Given the description of an element on the screen output the (x, y) to click on. 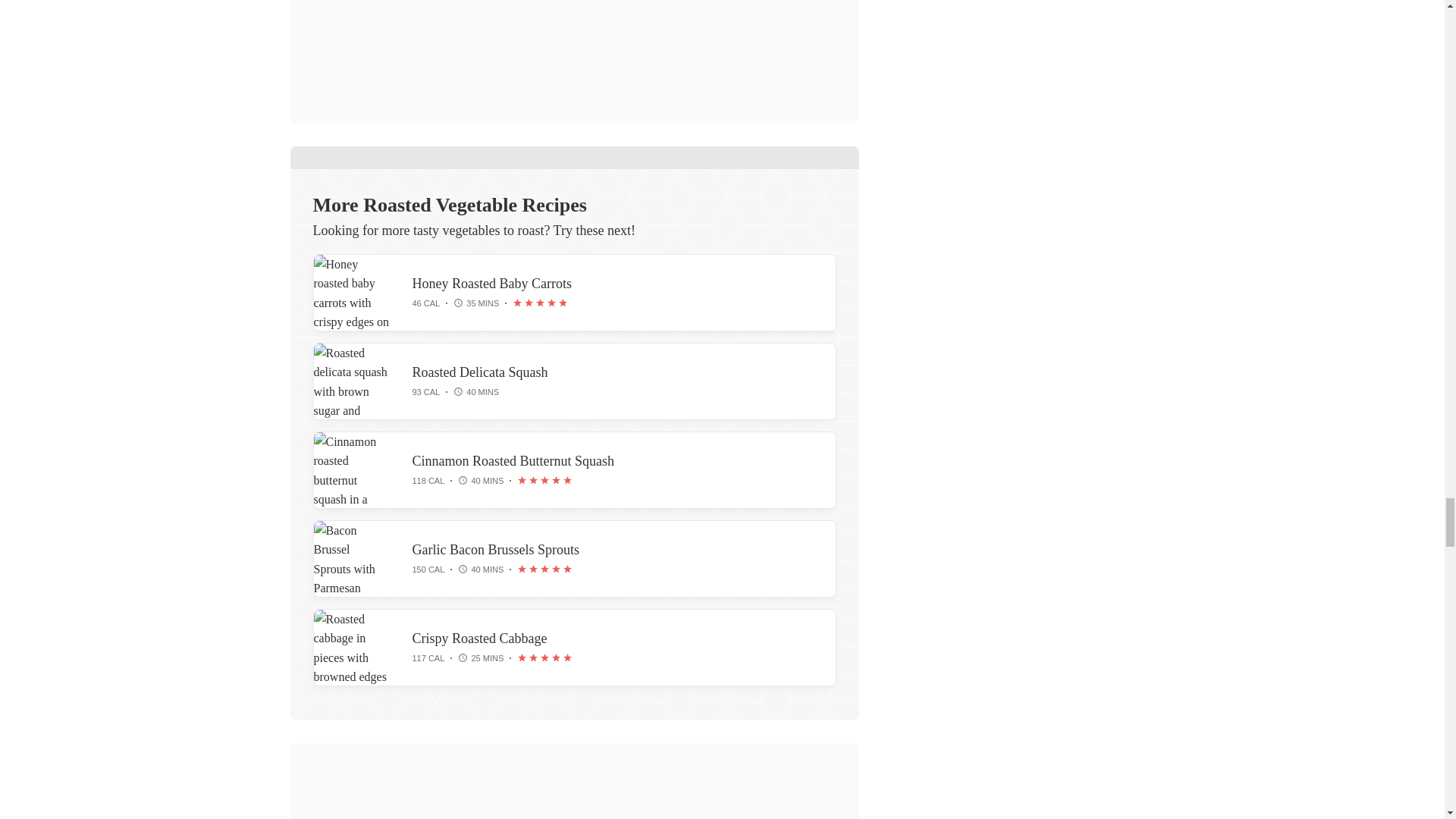
Garlic Bacon Brussels Sprouts (352, 558)
Cinnamon Roasted Butternut Squash (352, 469)
Crispy Roasted Cabbage (352, 647)
Roasted Delicata Squash (480, 372)
Garlic Bacon Brussels Sprouts (495, 549)
Cinnamon Roasted Butternut Squash (513, 461)
Roasted Delicata Squash (352, 381)
Honey Roasted Baby Carrots (492, 283)
Crispy Roasted Cabbage (479, 638)
Honey Roasted Baby Carrots (352, 292)
